Given the description of an element on the screen output the (x, y) to click on. 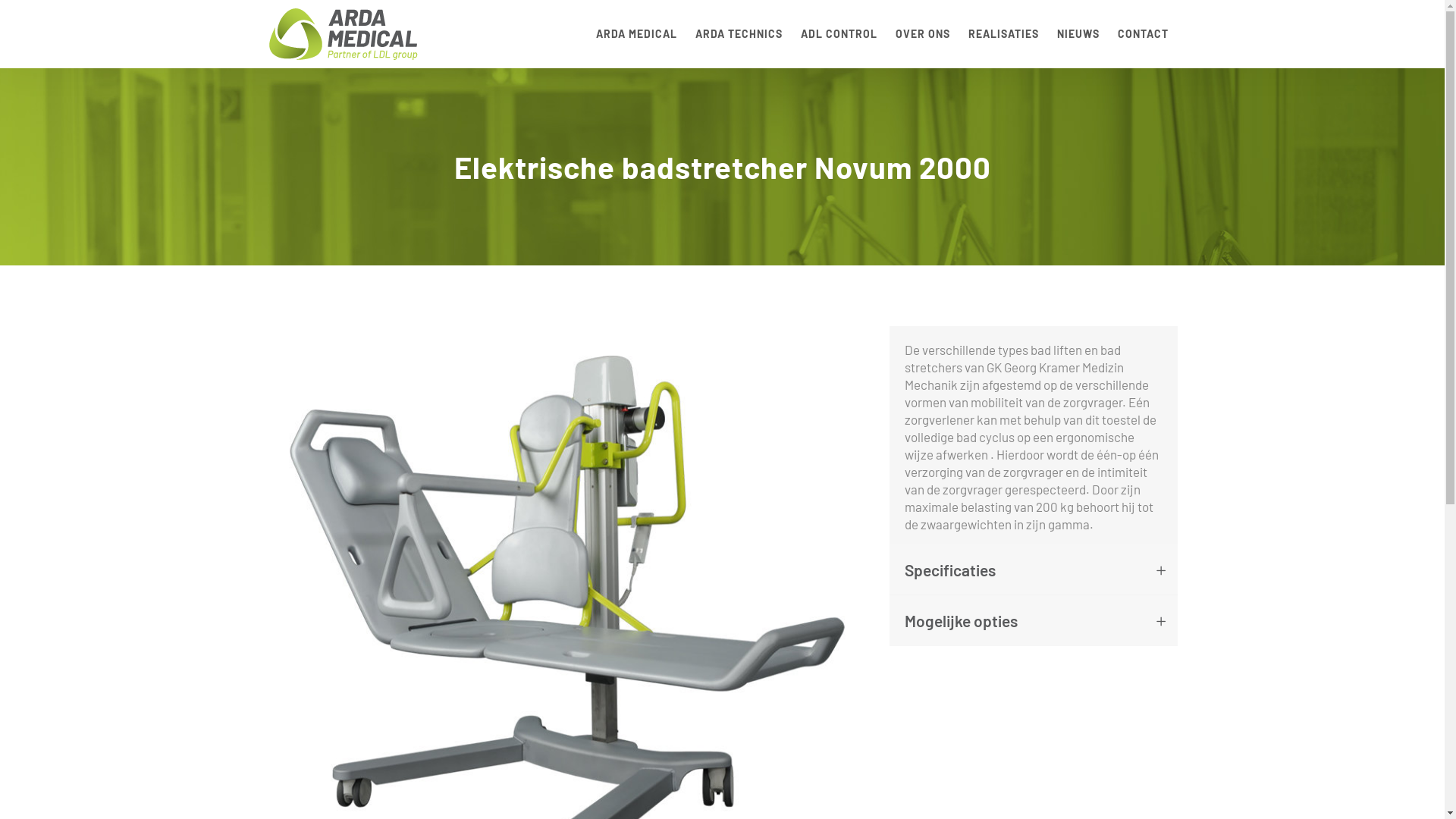
ARDA TECHNICS Element type: text (737, 34)
NIEUWS Element type: text (1078, 34)
CONTACT Element type: text (1142, 34)
ADL CONTROL Element type: text (838, 34)
REALISATIES Element type: text (1002, 34)
ARDA MEDICAL Element type: text (636, 34)
OVER ONS Element type: text (921, 34)
